Given the description of an element on the screen output the (x, y) to click on. 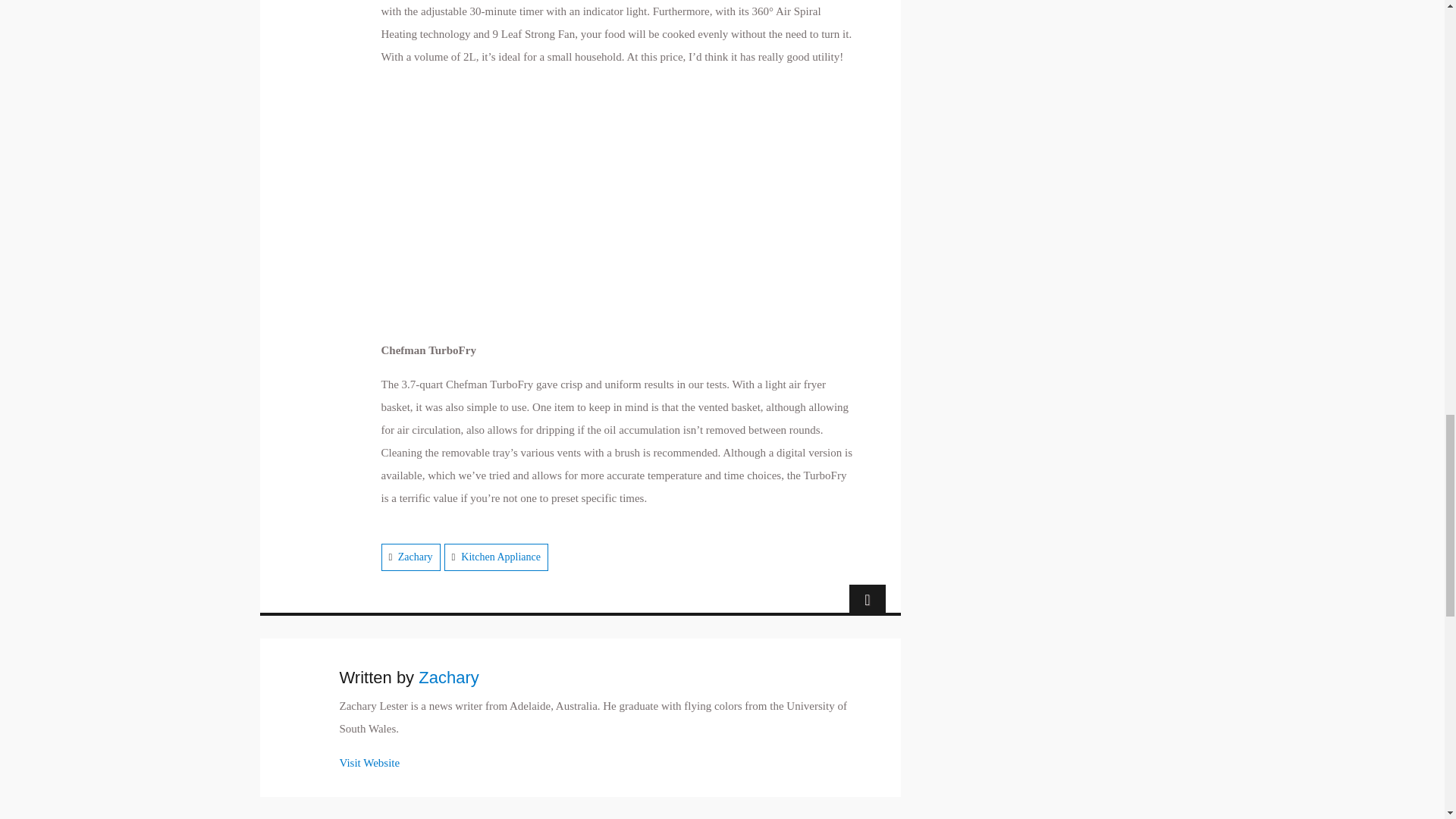
Visit Website (369, 762)
Zachary (414, 556)
Zachary (449, 677)
Posts by Zachary (449, 677)
Kitchen Appliance (500, 556)
